Given the description of an element on the screen output the (x, y) to click on. 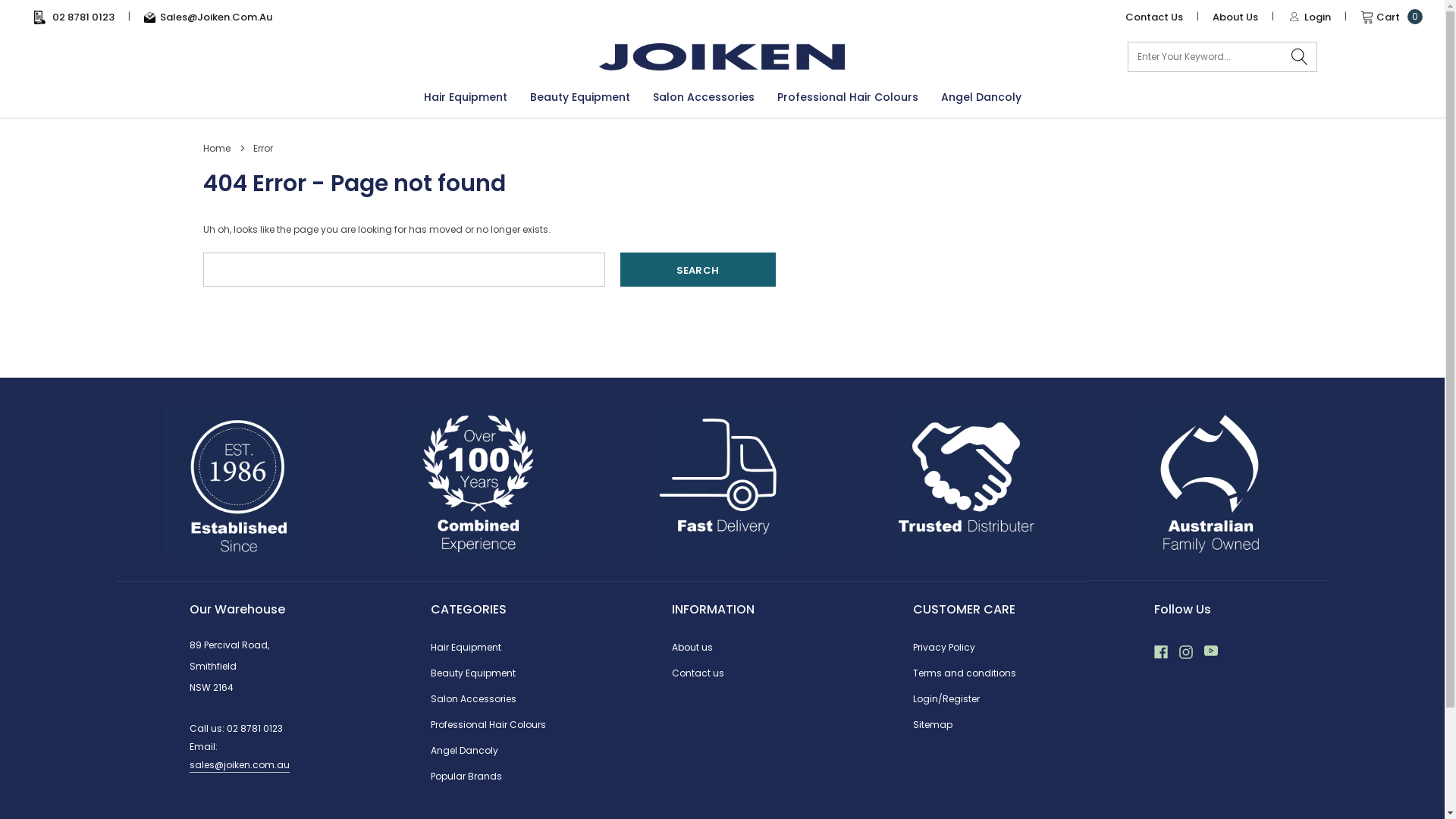
Angel Dancoly Element type: text (464, 750)
Search Element type: text (697, 269)
Privacy Policy Element type: text (944, 647)
Salon Accessories Element type: text (702, 96)
About us Element type: text (691, 647)
Sales@Joiken.Com.Au Element type: text (208, 17)
Sitemap Element type: text (932, 724)
Angel Dancoly Element type: text (980, 96)
Popular Brands Element type: text (466, 776)
Professional Hair Colours Element type: text (488, 724)
Login/Register Element type: text (946, 699)
Beauty Equipment Element type: text (472, 673)
02 8781 0123 Element type: text (74, 17)
Terms and conditions Element type: text (964, 673)
Beauty Equipment Element type: text (579, 96)
Cart
0 Element type: text (1379, 17)
Hair Equipment Element type: text (464, 96)
02 8781 0123 Element type: text (254, 727)
About Us Element type: text (1235, 17)
Professional Hair Colours Element type: text (846, 96)
Hair Equipment Element type: text (465, 647)
Login Element type: text (1308, 17)
Contact Us Element type: text (1154, 17)
Home Element type: text (216, 147)
Salon Accessories Element type: text (473, 699)
Joiken Hair & Beauty Furniture Pty Ltd. Element type: hover (721, 56)
Contact us Element type: text (697, 673)
sales@joiken.com.au Element type: text (239, 765)
Error Element type: text (263, 147)
